Given the description of an element on the screen output the (x, y) to click on. 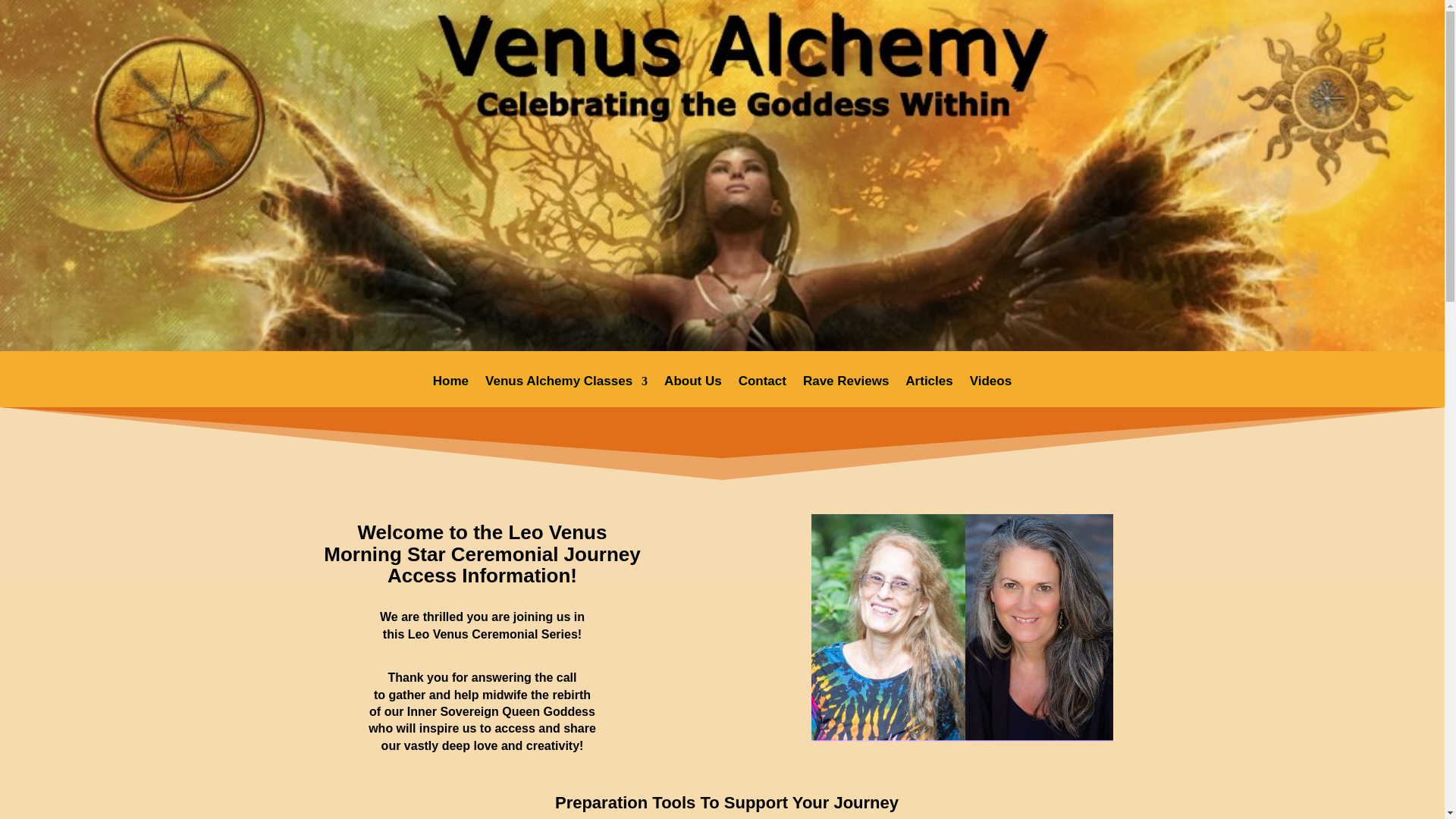
Venus Alchemy Classes (565, 391)
Cayelin and Sheridan 2021 (961, 628)
Videos (990, 391)
Home (450, 391)
Rave Reviews (845, 391)
Articles (928, 391)
About Us (692, 391)
Contact (762, 391)
